Given the description of an element on the screen output the (x, y) to click on. 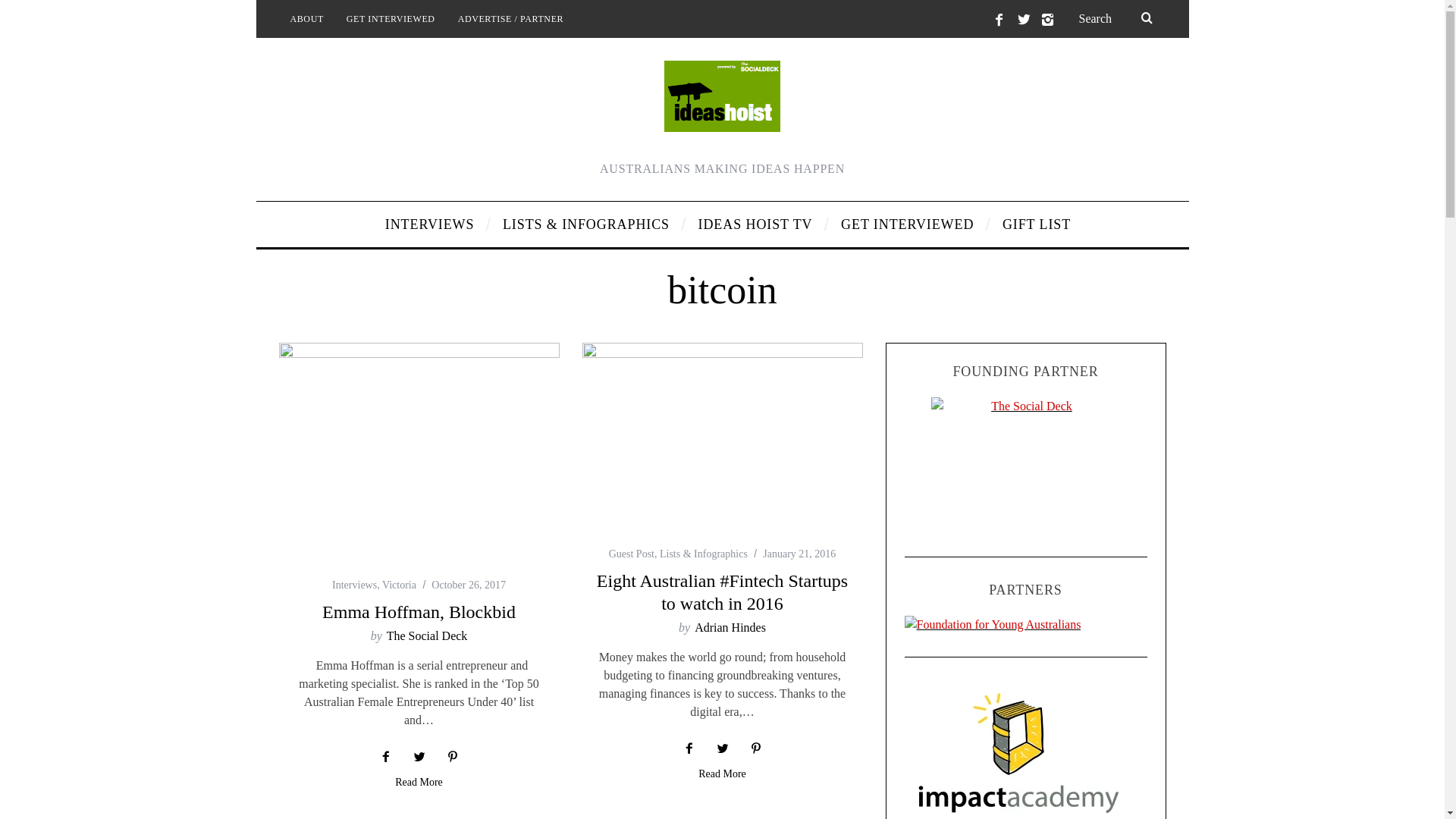
INTERVIEWS Element type: text (432, 224)
IDEAS HOIST TV Element type: text (758, 224)
ABOUT Element type: text (307, 18)
Victoria Element type: text (399, 584)
Lists & Infographics Element type: text (703, 553)
GET INTERVIEWED Element type: text (910, 224)
LISTS & INFOGRAPHICS Element type: text (589, 224)
Emma Hoffman, Blockbid Element type: text (418, 611)
Read More Element type: text (721, 774)
Adrian Hindes Element type: text (729, 627)
Interviews Element type: text (354, 584)
ADVERTISE / PARTNER Element type: text (510, 18)
GIFT LIST Element type: text (1030, 224)
Emma Hoffman, Blockbid Element type: hover (419, 453)
Read More Element type: text (418, 783)
The Social Deck: Behaviour Change Communications Element type: hover (1025, 465)
GET INTERVIEWED Element type: text (390, 18)
Guest Post Element type: text (631, 553)
The Social Deck Element type: text (426, 635)
Eight Australian #Fintech Startups to watch in 2016 Element type: text (721, 592)
Eight Australian #Fintech Startups to watch in 2016 Element type: hover (722, 438)
